Given the description of an element on the screen output the (x, y) to click on. 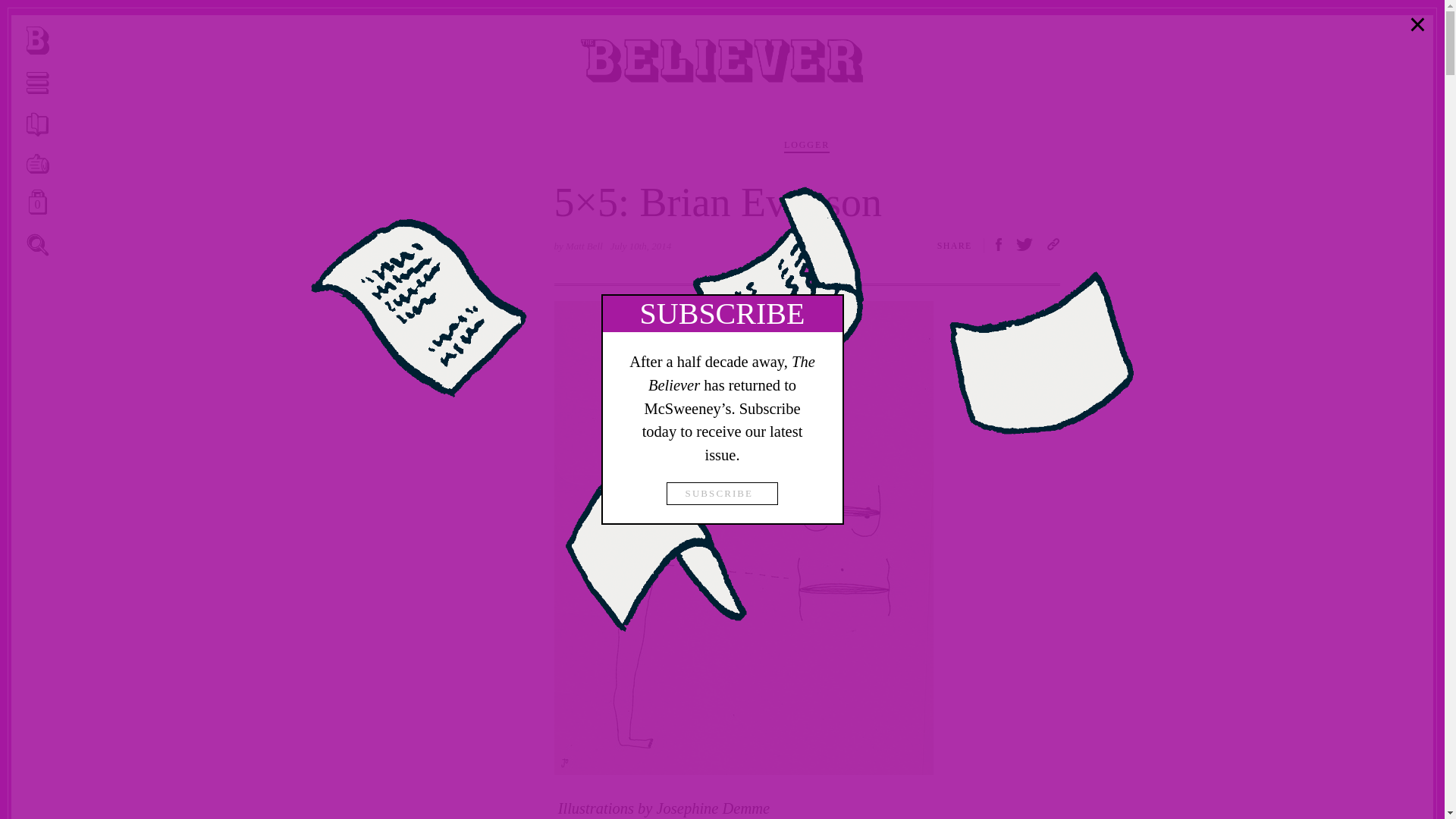
hamburger (37, 164)
Search (37, 83)
Tweet this! (37, 244)
Discover (37, 245)
logger (1025, 246)
